Given the description of an element on the screen output the (x, y) to click on. 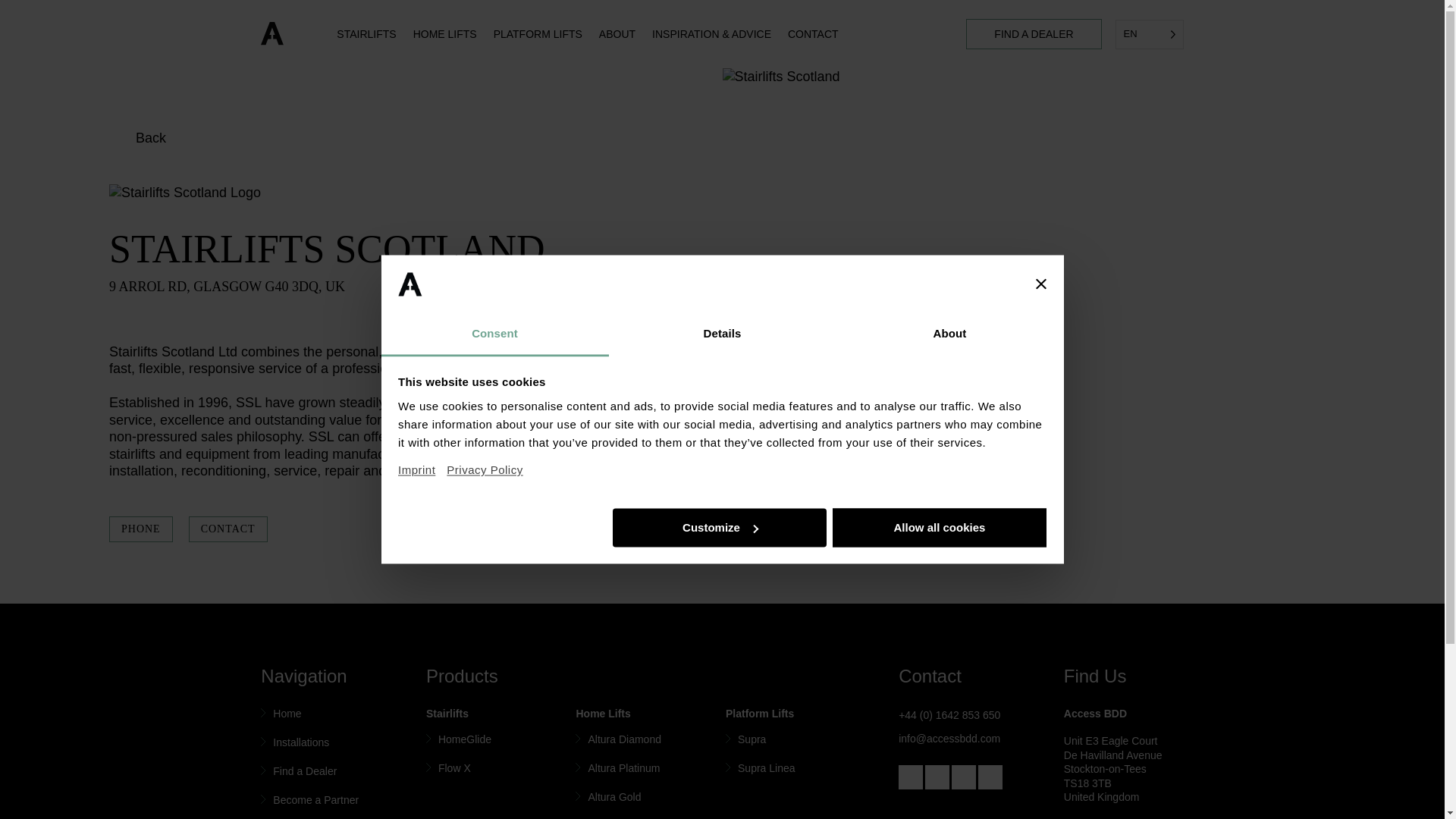
About (948, 334)
Imprint (421, 464)
Details (721, 334)
Privacy Policy (484, 470)
Consent (494, 334)
Privacy Policy (484, 470)
Imprint (421, 464)
